Given the description of an element on the screen output the (x, y) to click on. 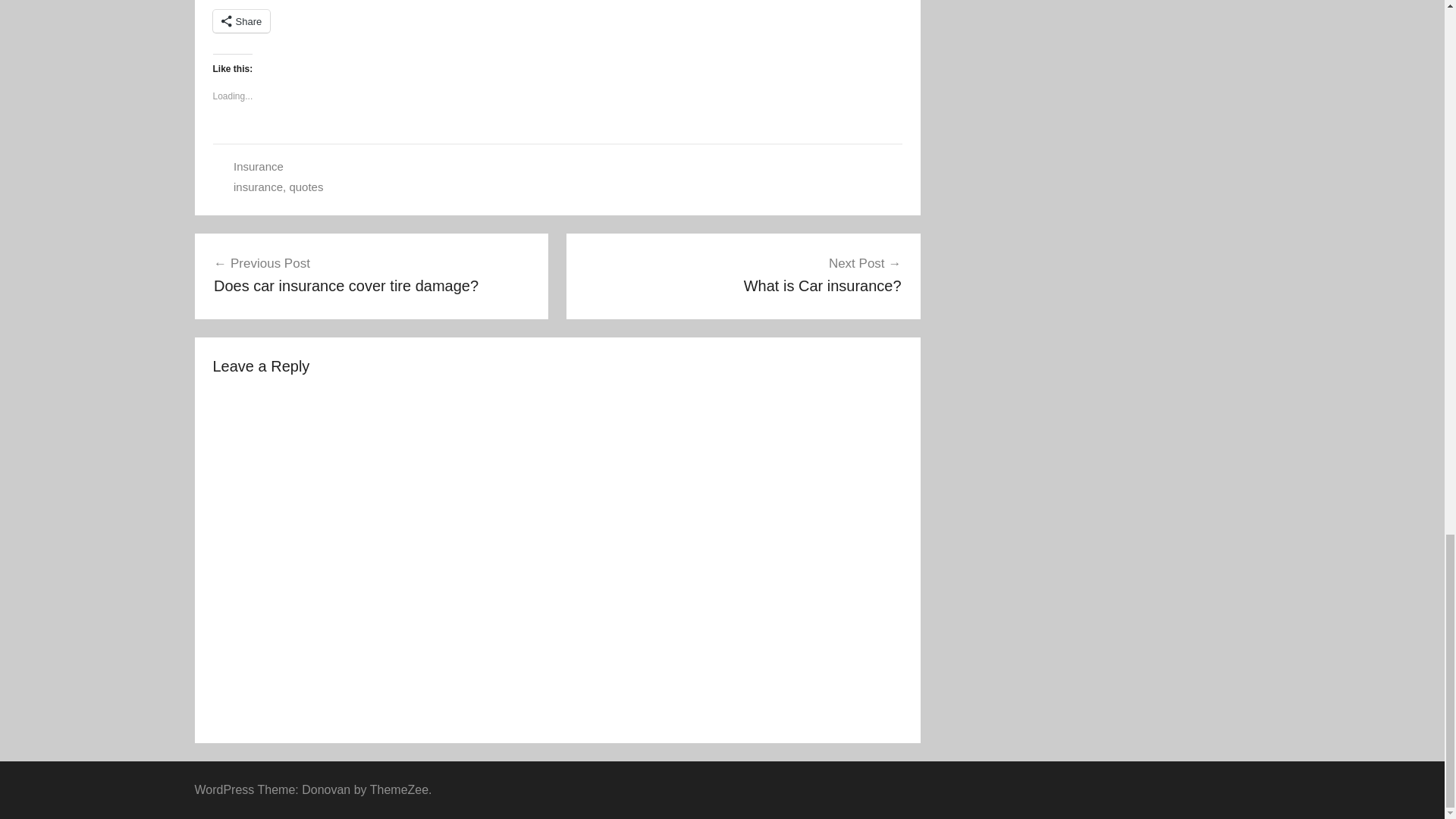
Share (240, 20)
insurance (257, 186)
quotes (743, 274)
Insurance (371, 274)
